Given the description of an element on the screen output the (x, y) to click on. 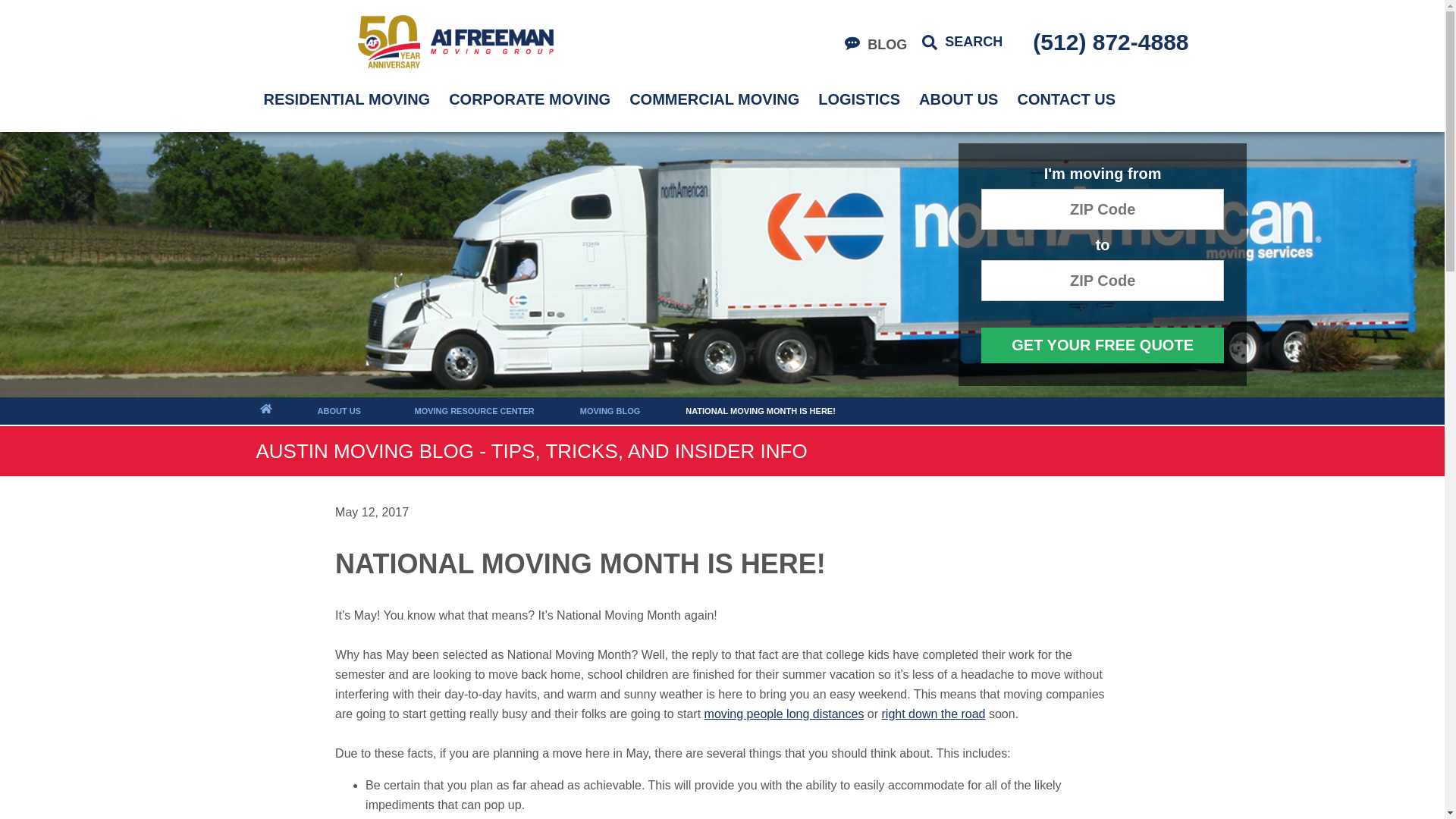
A-1 Freeman Moving Group Home (455, 41)
CORPORATE MOVING (529, 99)
Open Search (962, 42)
RESIDENTIAL MOVING (347, 99)
BLOG (875, 44)
SEARCH (962, 42)
